Given the description of an element on the screen output the (x, y) to click on. 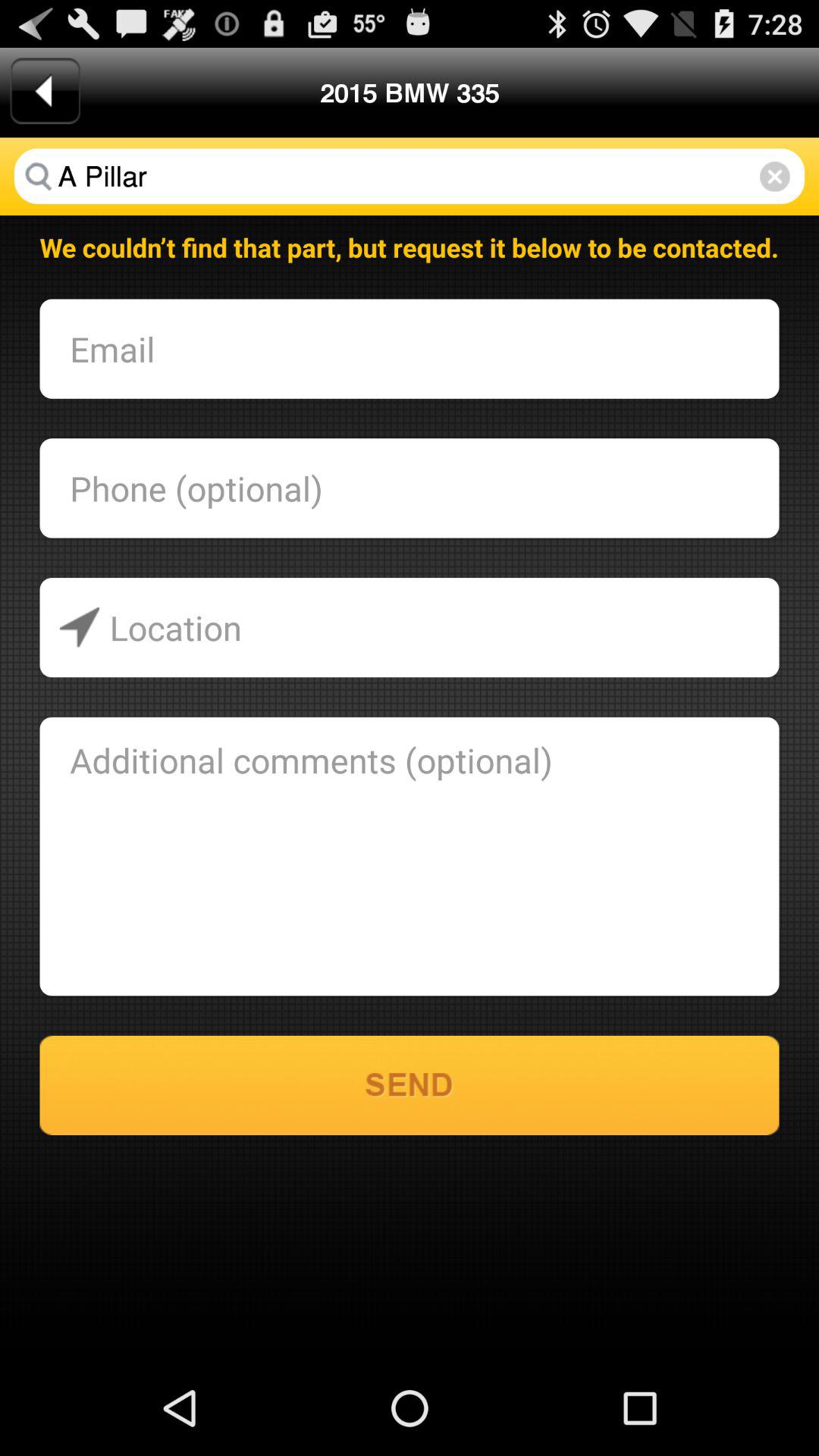
launch the app to the left of the 2015 bmw 335 app (45, 90)
